Given the description of an element on the screen output the (x, y) to click on. 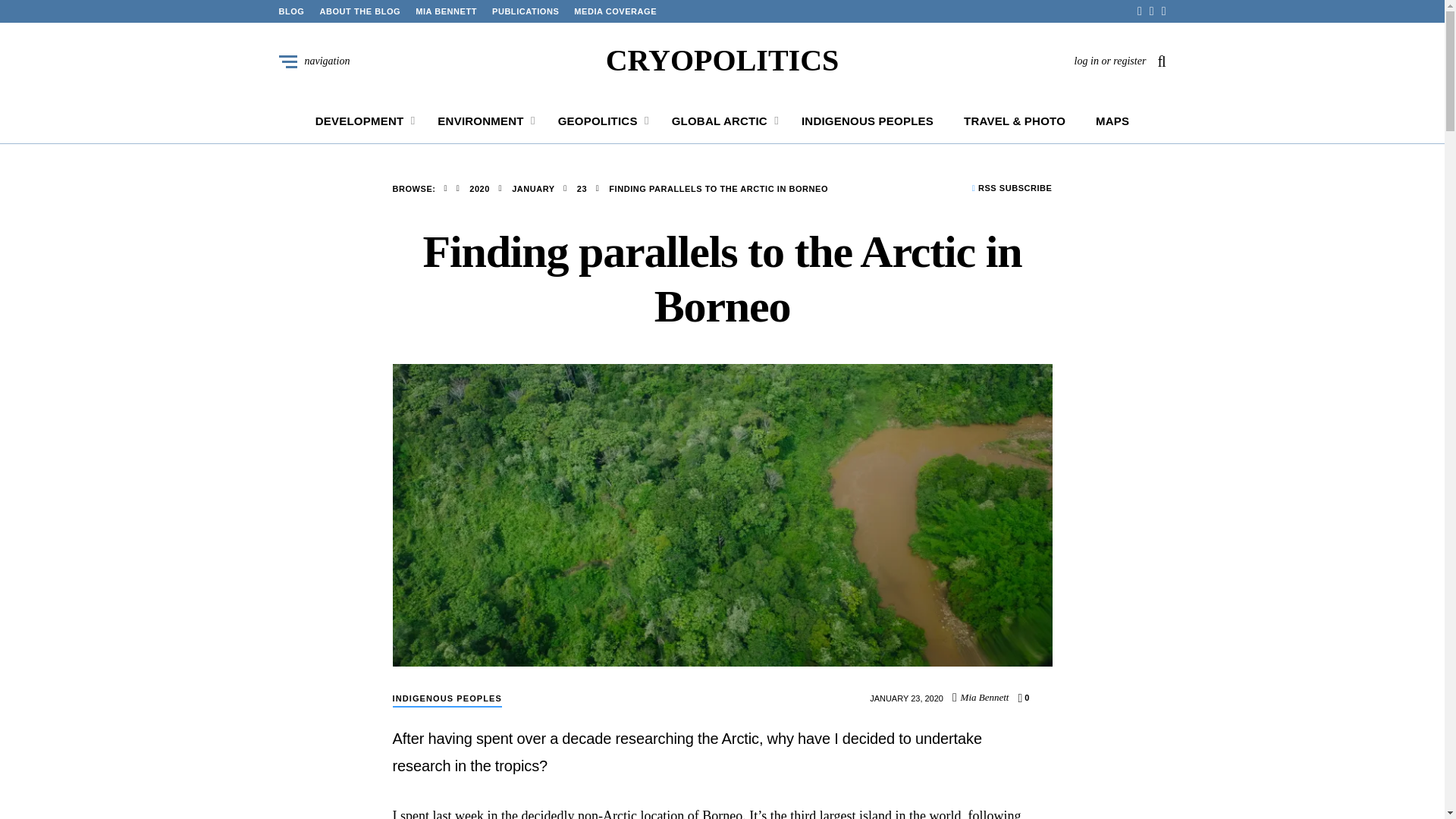
PUBLICATIONS (525, 10)
Search (907, 406)
MIA BENNETT (445, 10)
BLOG (291, 10)
ABOUT THE BLOG (359, 10)
CRYOPOLITICS (722, 60)
MEDIA COVERAGE (614, 10)
